Given the description of an element on the screen output the (x, y) to click on. 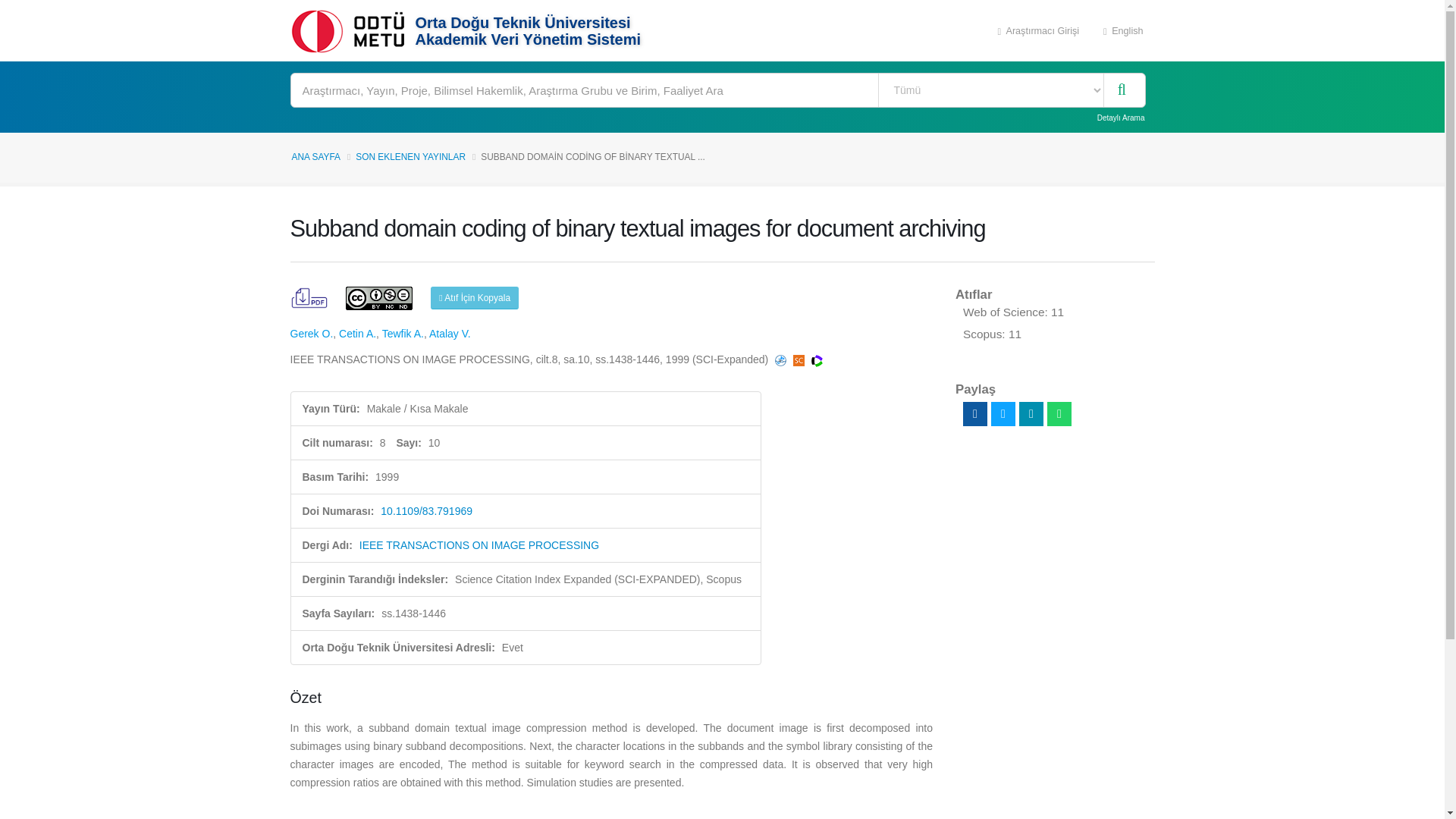
ANA SAYFA (315, 156)
English (1123, 31)
AE Cetin (357, 333)
Tewfik A. (402, 333)
ON Gerek (311, 333)
Atalay V. (449, 333)
Gerek O. (311, 333)
Cetin A. (357, 333)
AH Tewfik (402, 333)
IEEE TRANSACTIONS ON IMAGE PROCESSING (478, 544)
SON EKLENEN YAYINLAR (410, 156)
